Given the description of an element on the screen output the (x, y) to click on. 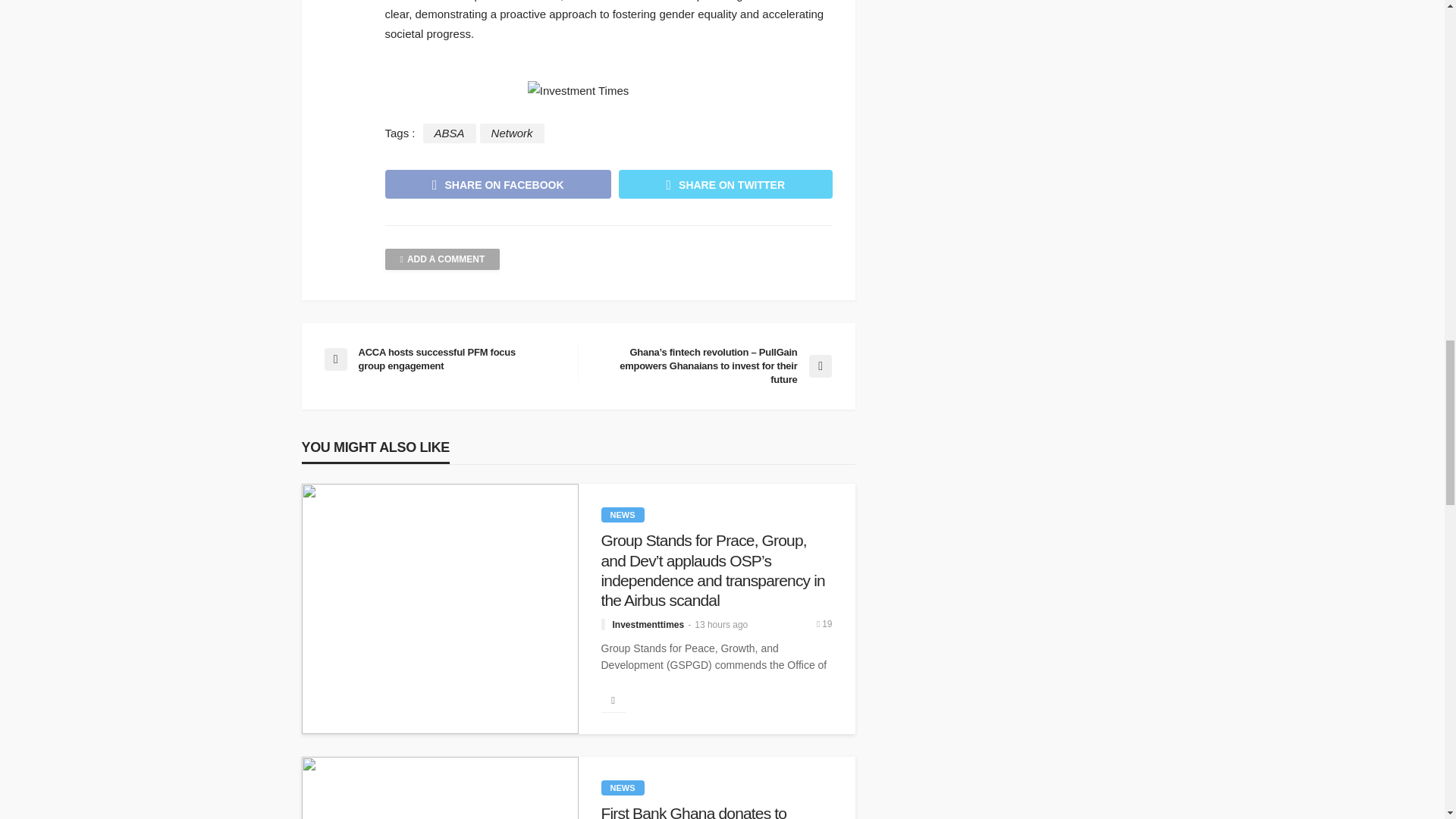
ACCA hosts successful PFM focus group engagement (443, 359)
ABSA (449, 133)
Network (512, 133)
